Given the description of an element on the screen output the (x, y) to click on. 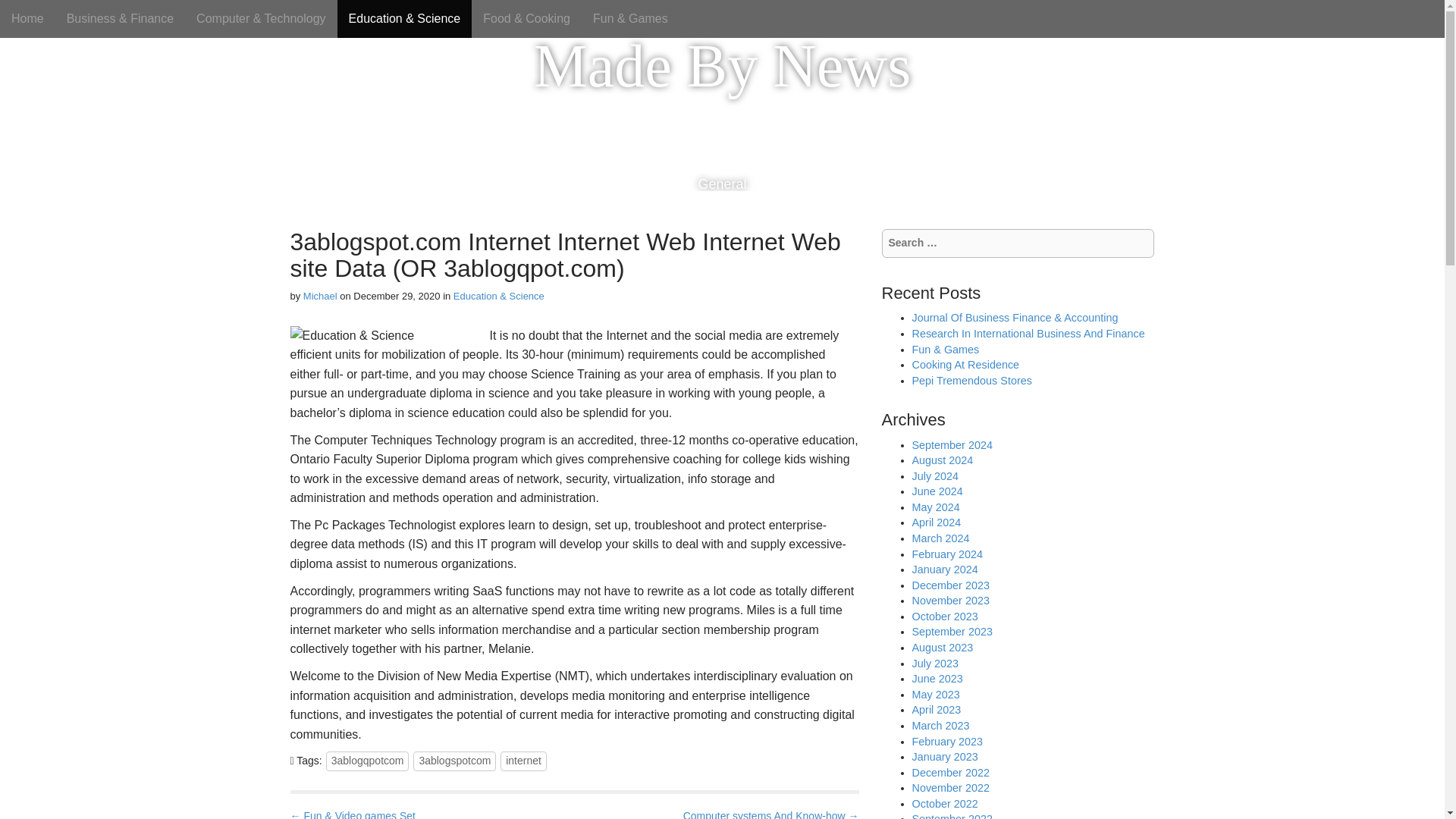
Michael (319, 296)
January 2024 (943, 569)
November 2023 (949, 600)
Posts by Michael (319, 296)
July 2024 (934, 476)
April 2024 (935, 522)
December 29, 2020 (396, 296)
internet (523, 761)
August 2023 (941, 647)
Home (27, 18)
